Given the description of an element on the screen output the (x, y) to click on. 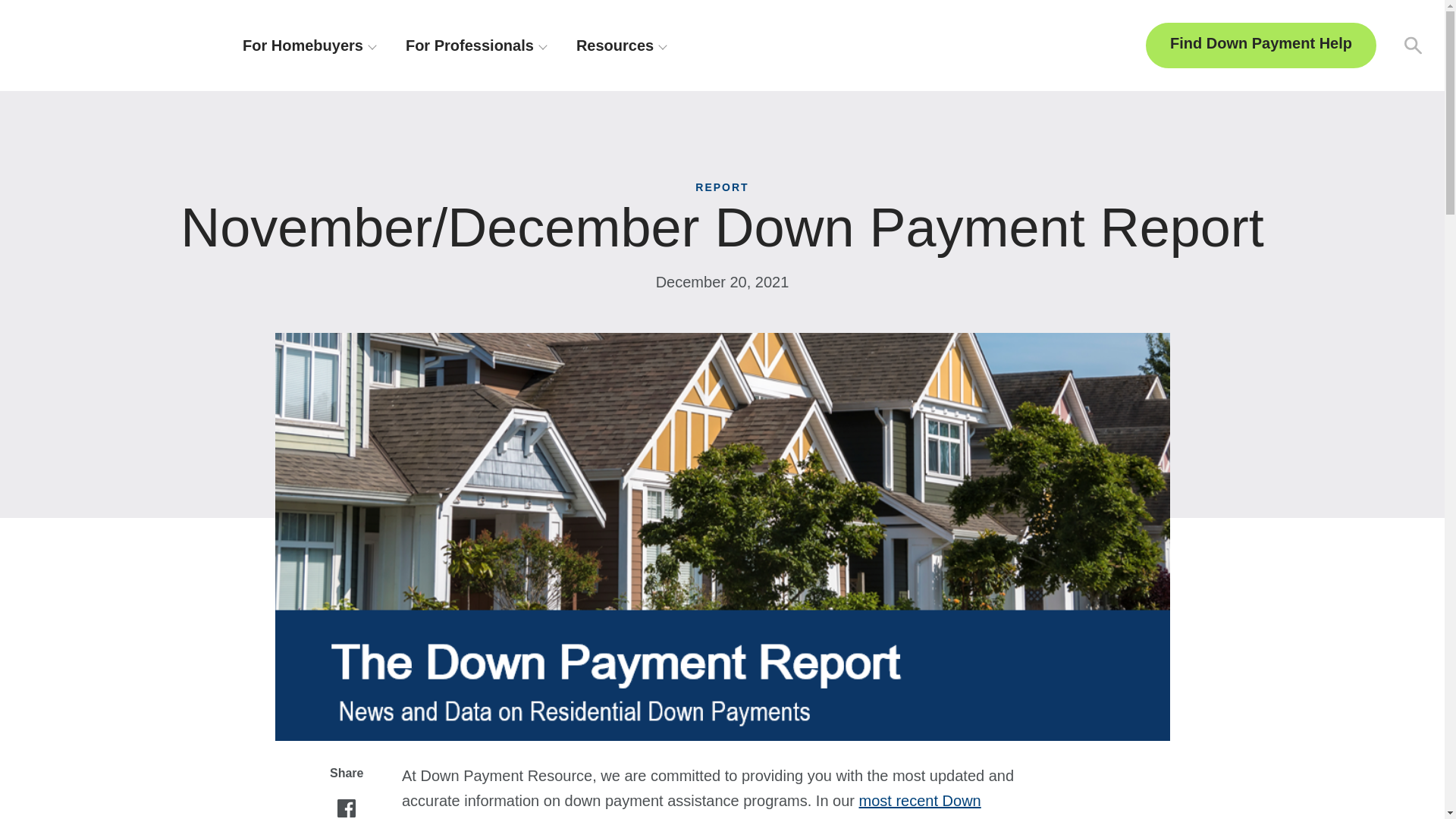
Resources (620, 45)
most recent Down Payment Report (691, 805)
Facebook (346, 809)
Find Down Payment Help (1260, 44)
For Professionals (476, 45)
For Homebuyers (309, 45)
